Given the description of an element on the screen output the (x, y) to click on. 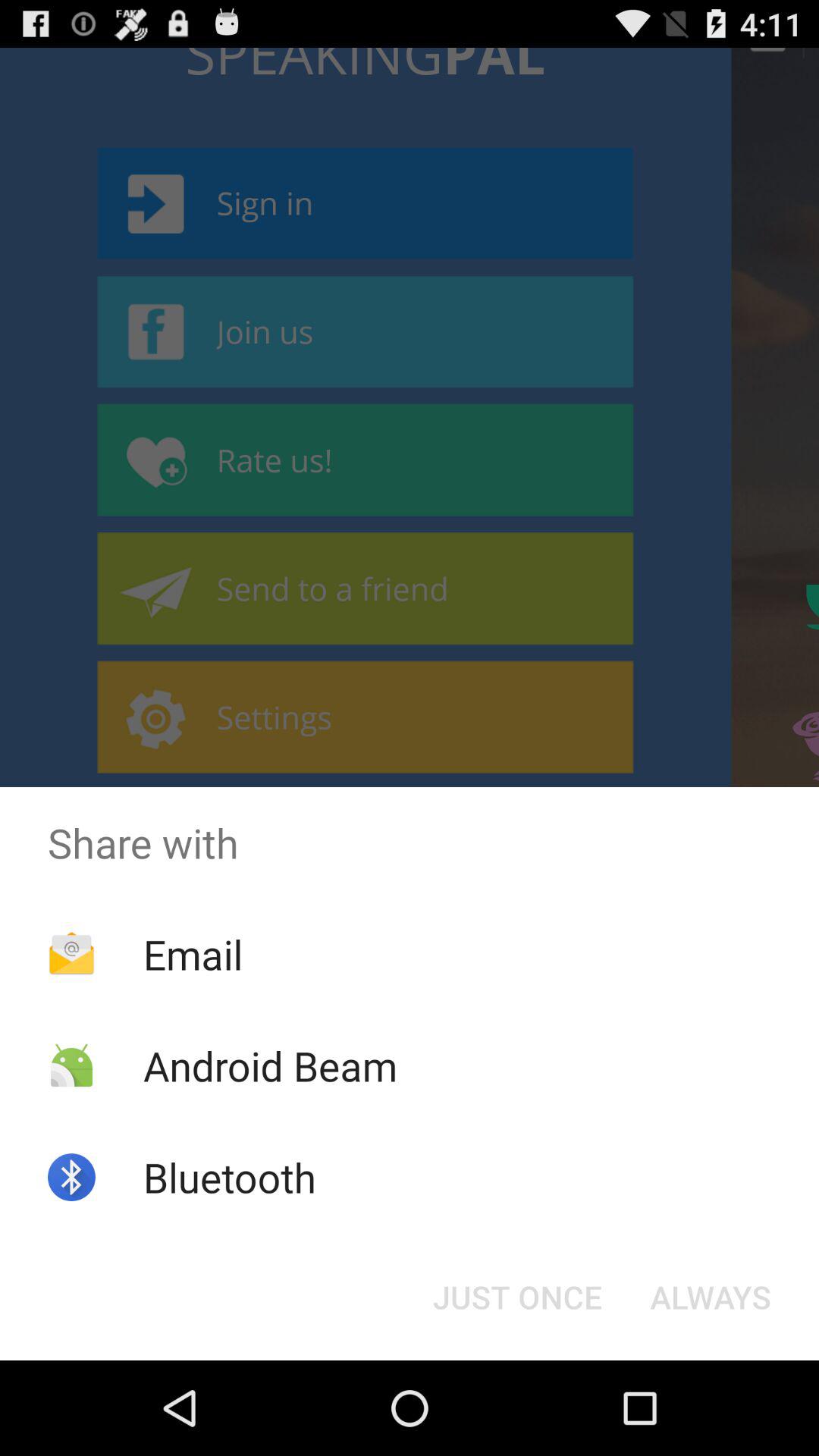
tap the app below the share with (192, 953)
